Given the description of an element on the screen output the (x, y) to click on. 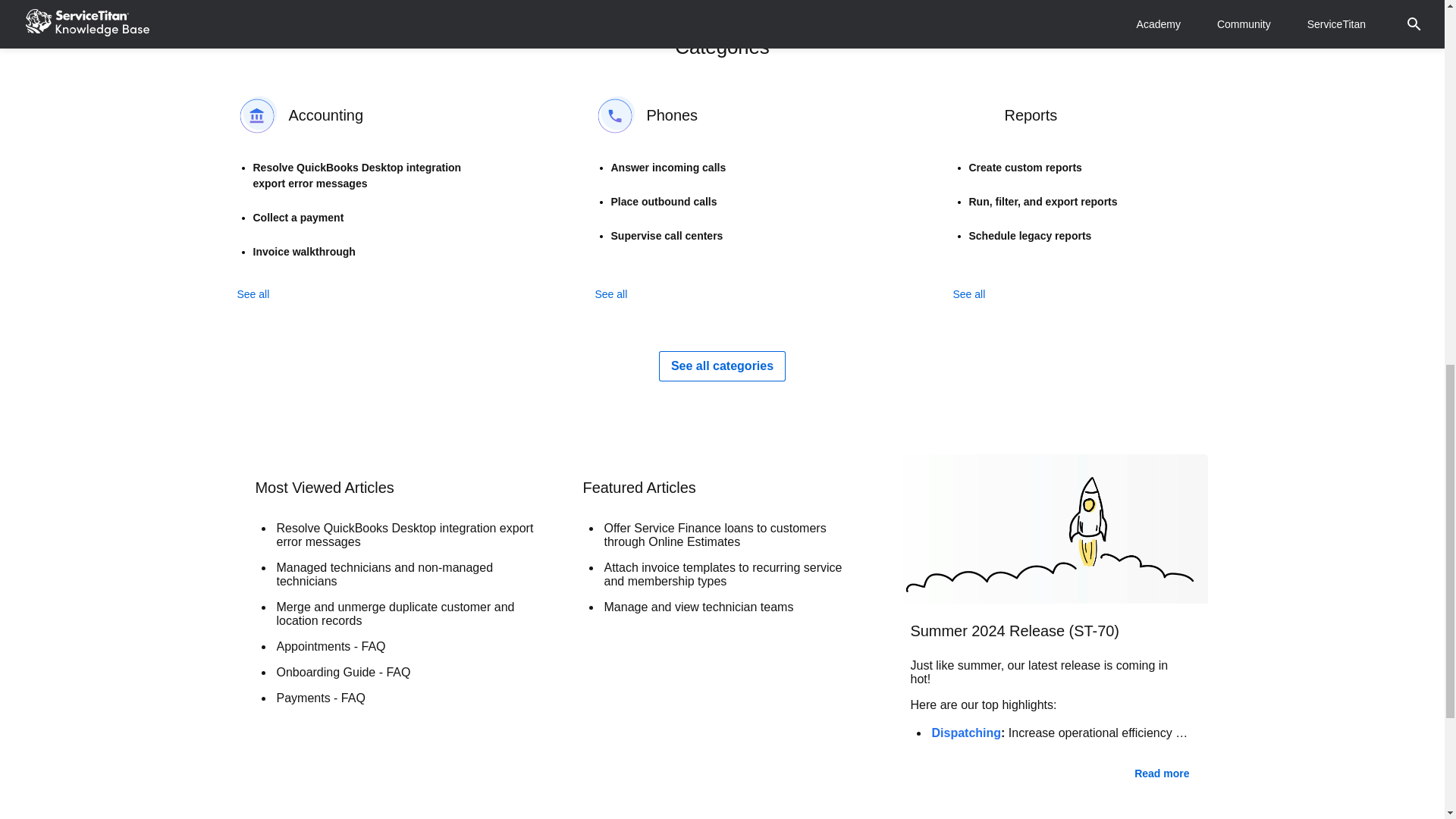
Onboarding Guide - FAQ (405, 672)
Managed technicians and non-managed technicians (405, 574)
Phones (721, 115)
Resolve QuickBooks Desktop integration export error messages (405, 534)
Resolve QuickBooks Desktop integration export error messages (372, 174)
Create custom reports (1088, 166)
Run, filter, and export reports (1088, 201)
Place outbound calls (730, 201)
